Given the description of an element on the screen output the (x, y) to click on. 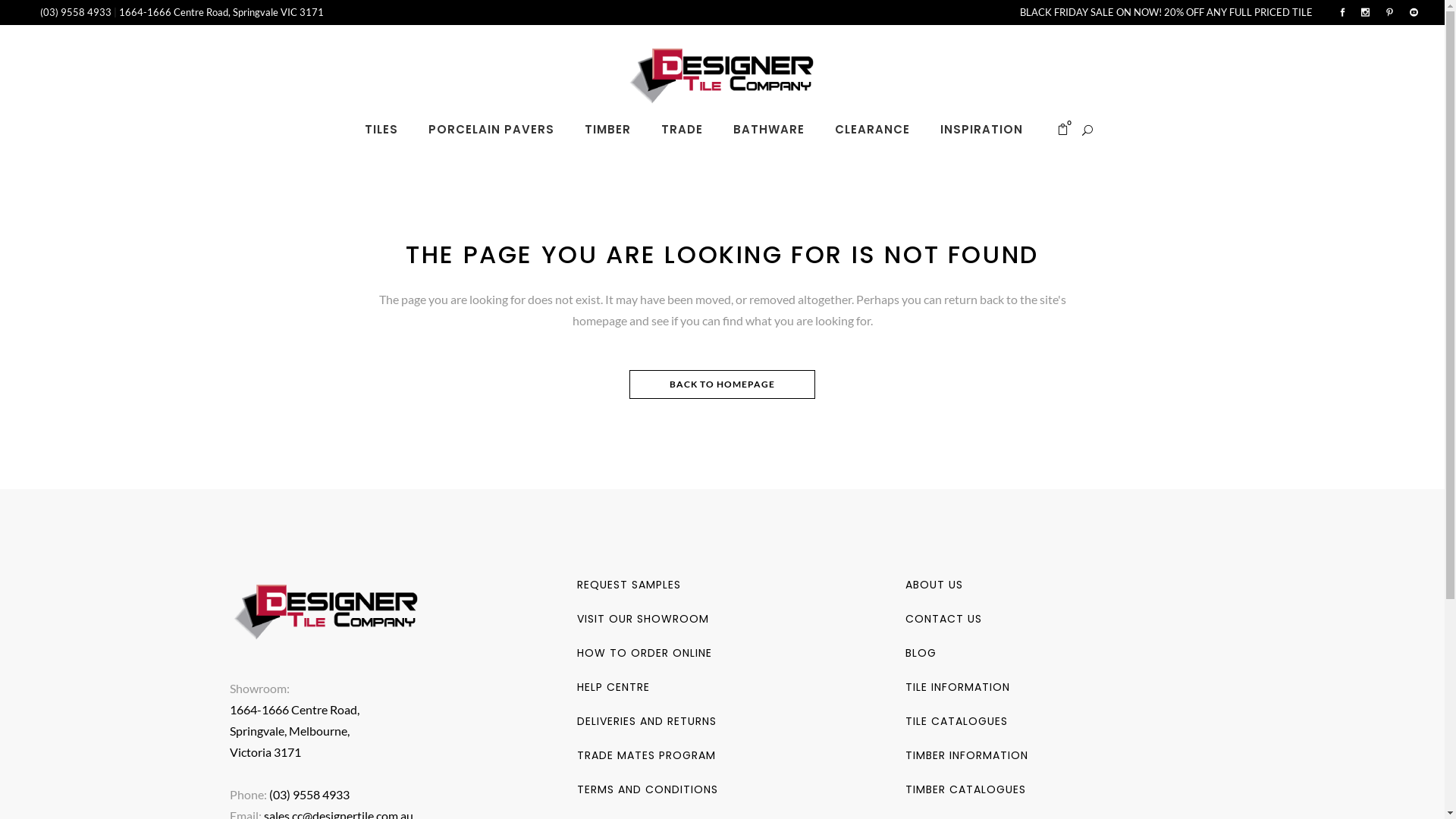
BATHWARE Element type: text (768, 129)
(03) 9558 4933 Element type: text (308, 794)
0 Element type: text (1062, 129)
TILE CATALOGUES Element type: text (956, 720)
TIMBER CATALOGUES Element type: text (965, 789)
CONTACT US Element type: text (943, 618)
REQUEST SAMPLES Element type: text (628, 584)
ABOUT US Element type: text (934, 584)
TRADE MATES PROGRAM Element type: text (646, 754)
(03) 9558 4933 Element type: text (76, 12)
INSPIRATION Element type: text (981, 129)
BLACK FRIDAY SALE ON NOW! 20% OFF ANY FULL PRICED TILE Element type: text (1165, 12)
1664-1666 Centre Road, Element type: text (293, 709)
DELIVERIES AND RETURNS Element type: text (646, 720)
Springvale, Melbourne, Element type: text (288, 730)
1664-1666 Centre Road, Springvale VIC 3171 Element type: text (221, 12)
HOW TO ORDER ONLINE Element type: text (644, 652)
TILES Element type: text (381, 129)
CLEARANCE Element type: text (872, 129)
TILE INFORMATION Element type: text (957, 686)
VISIT OUR SHOWROOM Element type: text (643, 618)
TIMBER Element type: text (607, 129)
HELP CENTRE Element type: text (613, 686)
TERMS AND CONDITIONS Element type: text (647, 789)
PORCELAIN PAVERS Element type: text (491, 129)
Victoria 3171 Element type: text (264, 751)
BLOG Element type: text (920, 652)
TIMBER INFORMATION Element type: text (966, 754)
BACK TO HOMEPAGE Element type: text (722, 384)
TRADE Element type: text (682, 129)
